Given the description of an element on the screen output the (x, y) to click on. 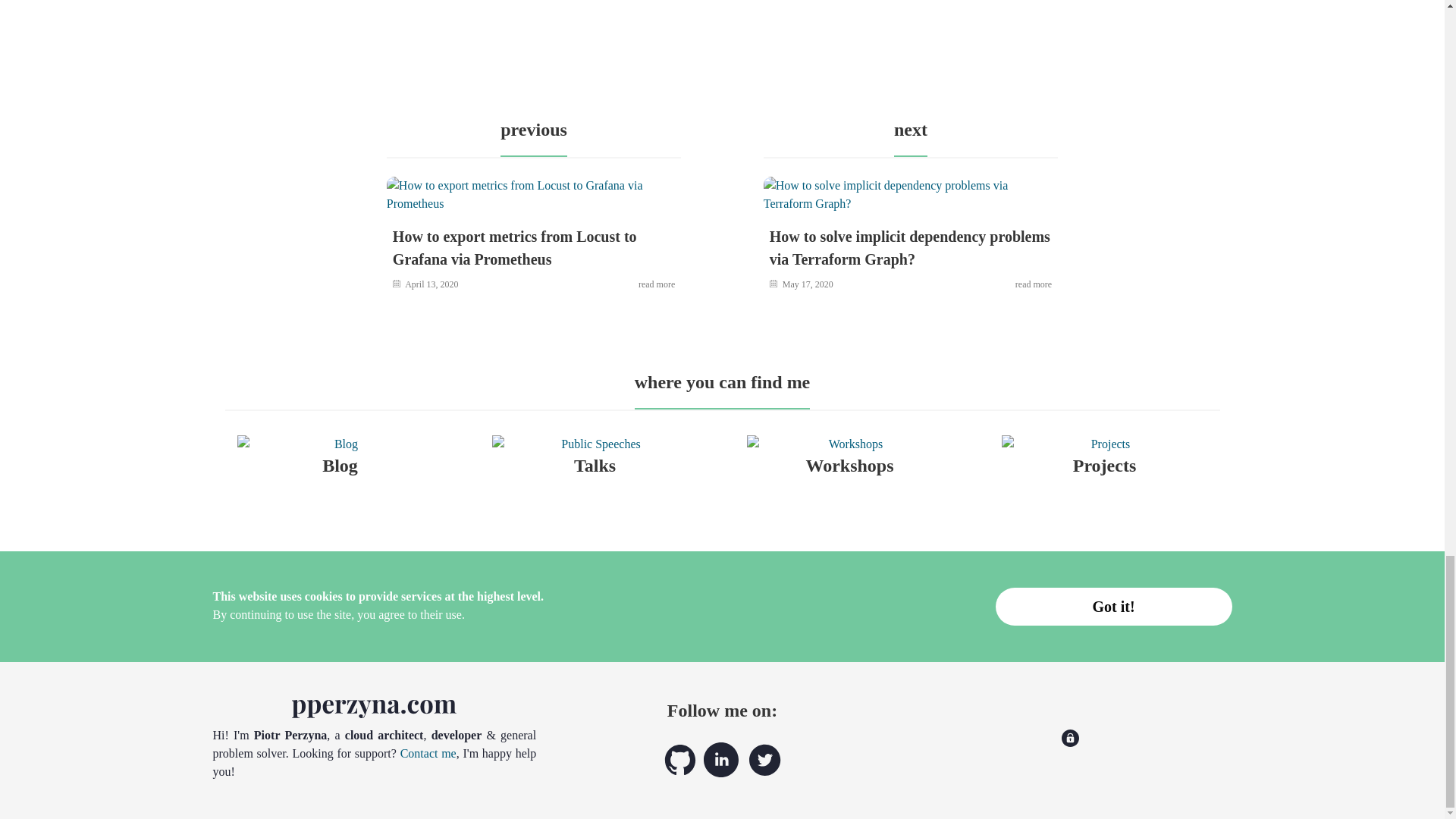
Twitter (765, 772)
Projects (1104, 454)
Privacy Policy (1069, 742)
Got it! (1112, 606)
How to export metrics from Locust to Grafana via Prometheus (515, 247)
Public Speeches (594, 454)
Contact Me (428, 753)
GitHub (679, 772)
Workshops (848, 454)
